Given the description of an element on the screen output the (x, y) to click on. 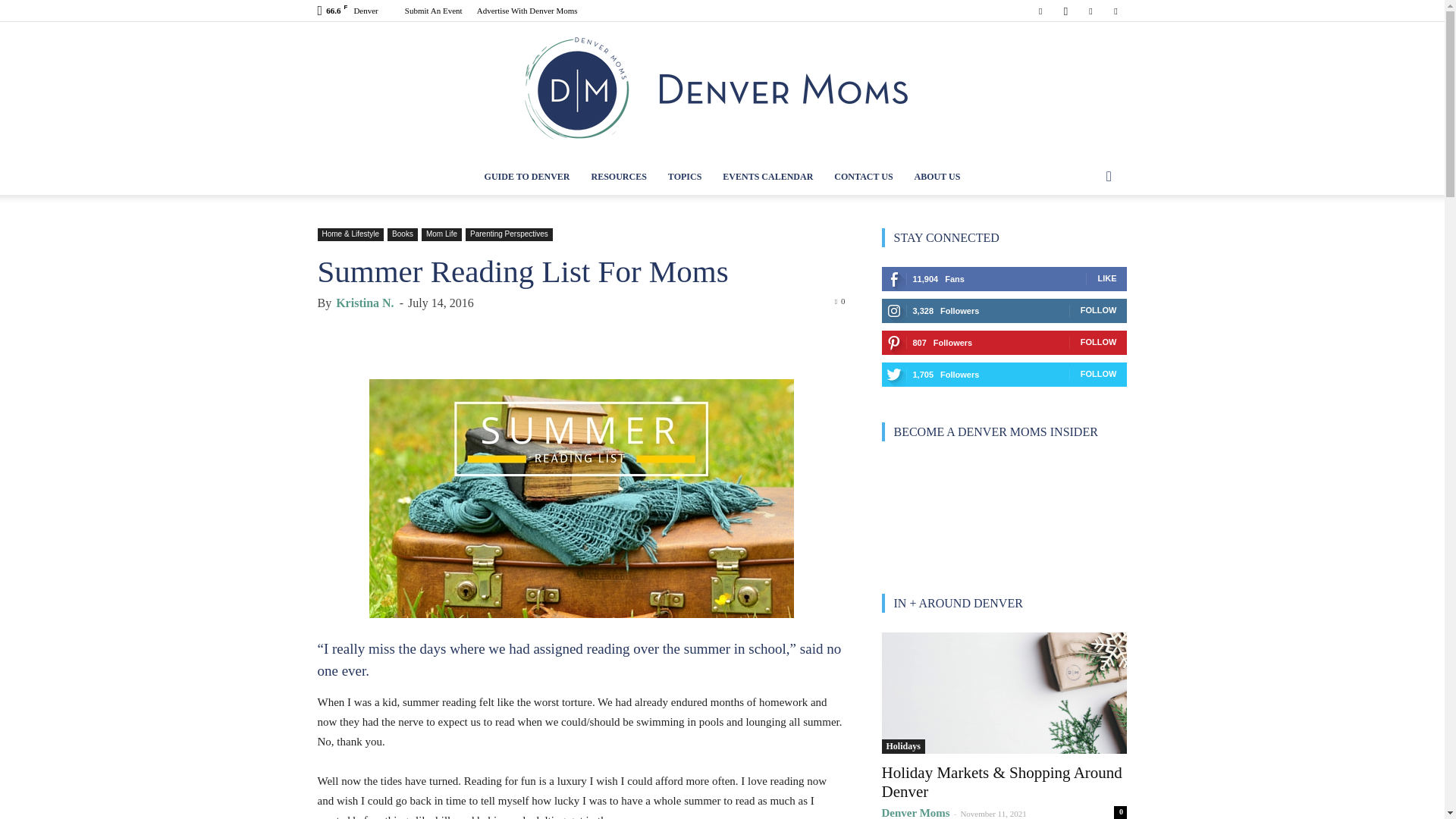
Twitter (1114, 10)
Denver Moms (721, 90)
Pinterest (1090, 10)
Advertise With Denver Moms (527, 10)
Instagram (1065, 10)
Submit An Event (433, 10)
Facebook (1040, 10)
